Given the description of an element on the screen output the (x, y) to click on. 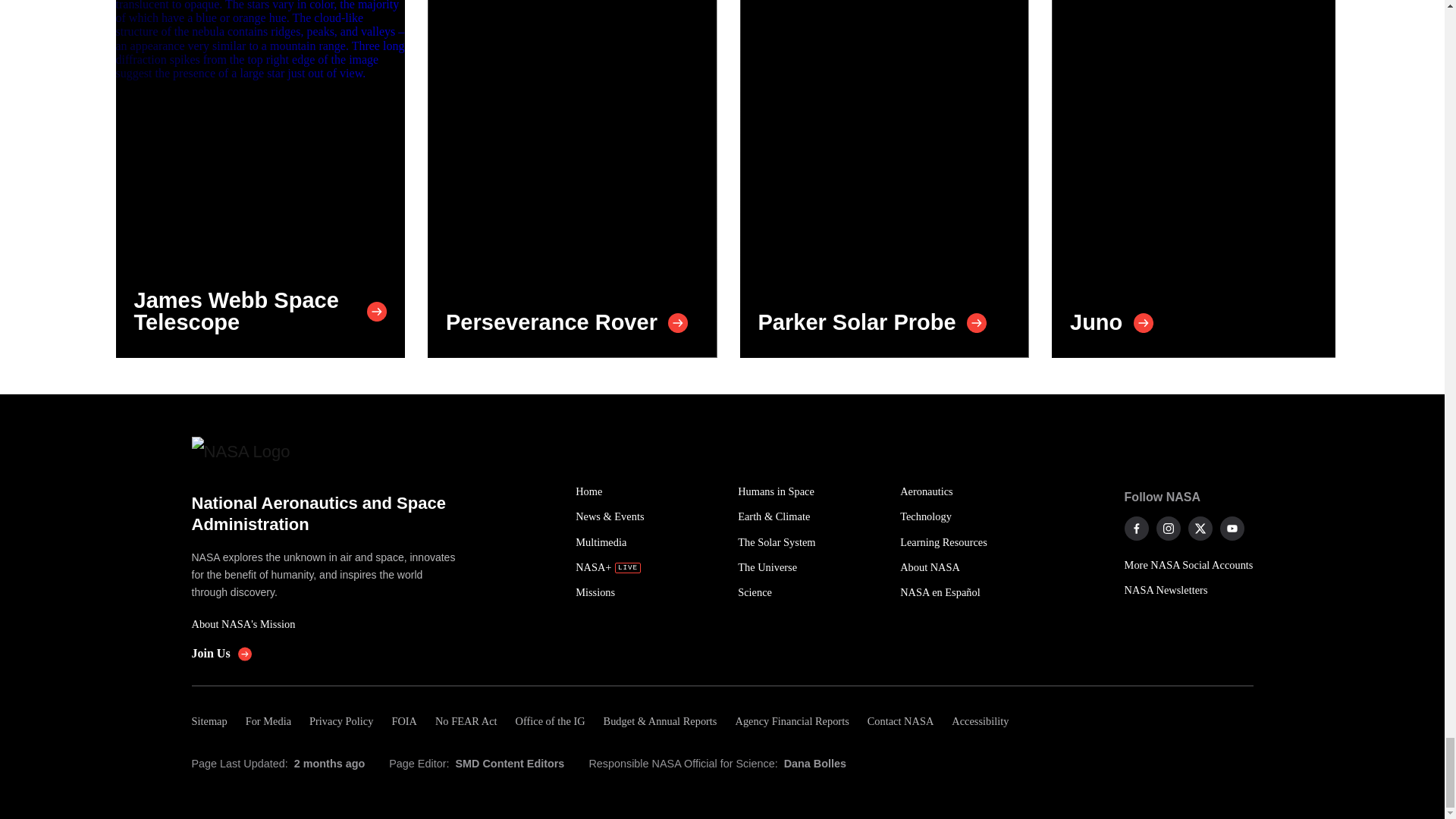
Office of the IG (550, 721)
No FEAR Act (466, 721)
FOIA (403, 721)
Accessibility (979, 721)
Contact NASA (901, 721)
Privacy Policy (340, 721)
Sitemap (212, 721)
For Media (267, 721)
Agency Financial Reports (791, 721)
